Given the description of an element on the screen output the (x, y) to click on. 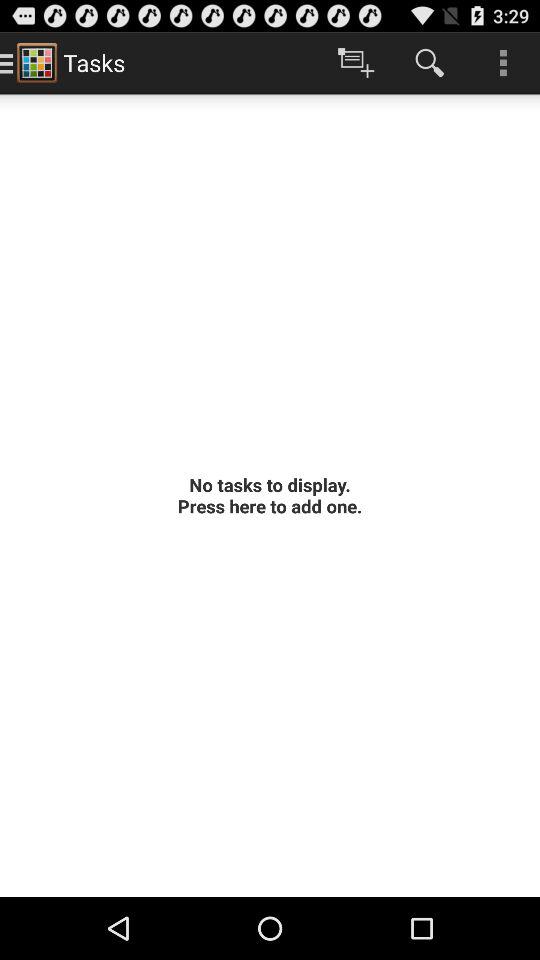
select app at the center (270, 495)
